Given the description of an element on the screen output the (x, y) to click on. 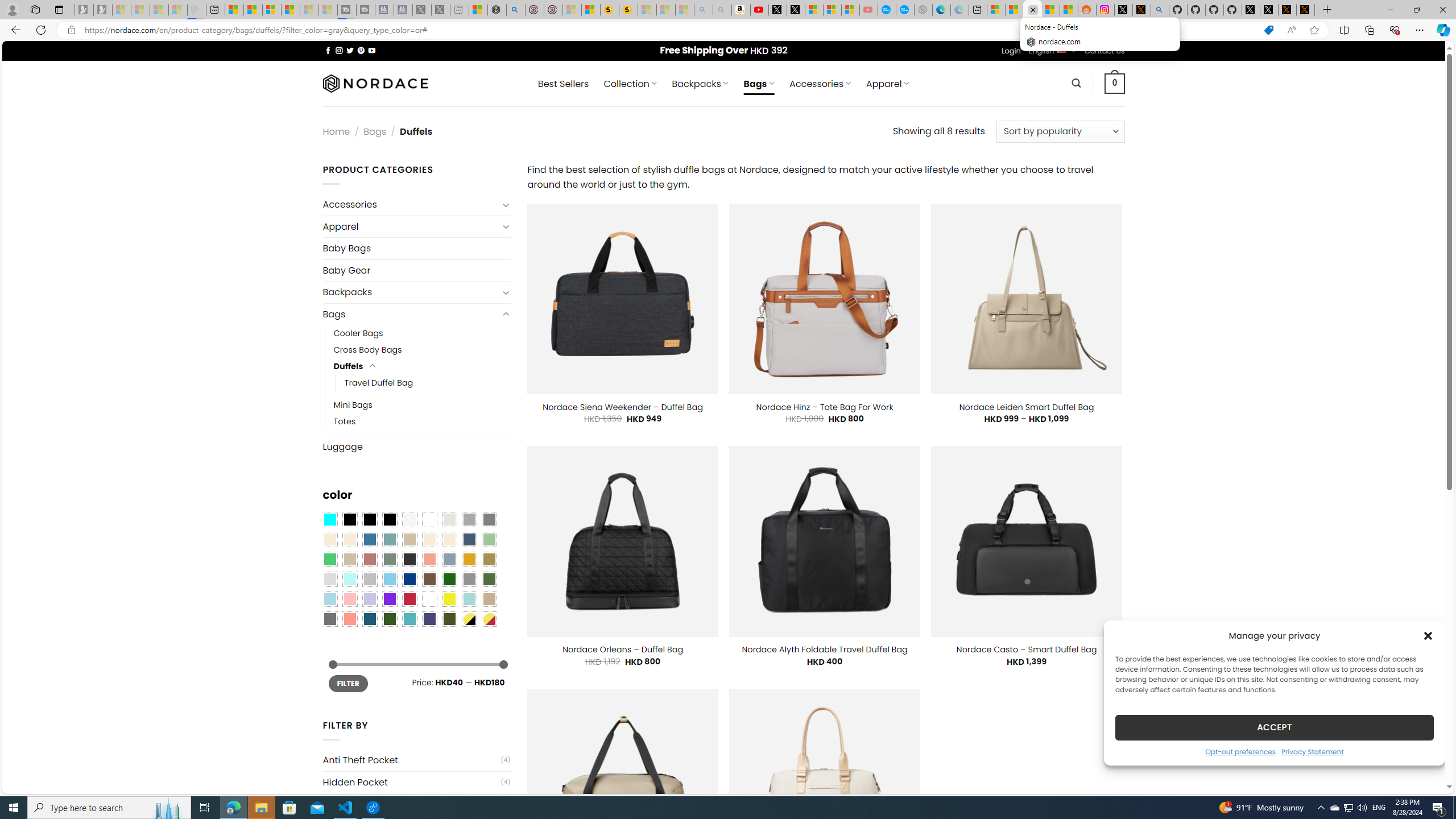
Mini Bags (422, 404)
All Black (349, 519)
Amazon Echo Dot PNG - Search Images - Sleeping (721, 9)
Yellow-Black (468, 618)
Aqua Blue (329, 519)
Nordace - Nordace has arrived Hong Kong - Sleeping (923, 9)
Khaki (488, 599)
Baby Bags (416, 248)
Hidden Pocket (410, 782)
Black-Brown (389, 519)
